Given the description of an element on the screen output the (x, y) to click on. 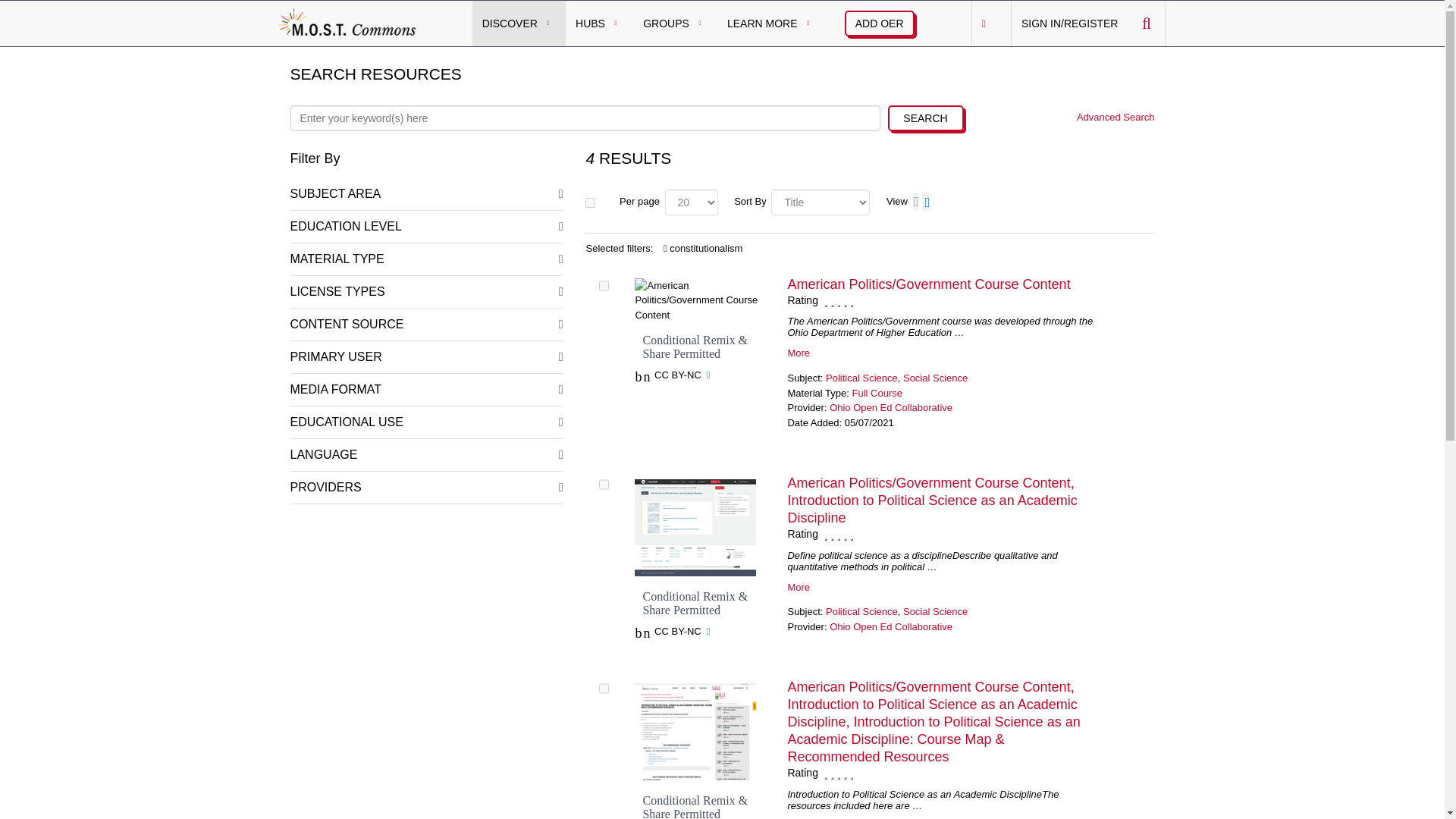
Search keywords (584, 118)
GROUPS (675, 22)
LEARN MORE (771, 22)
ADD OER (879, 23)
on (590, 202)
Show add OER options (879, 23)
DISCOVER (518, 22)
HUBS (599, 22)
